Given the description of an element on the screen output the (x, y) to click on. 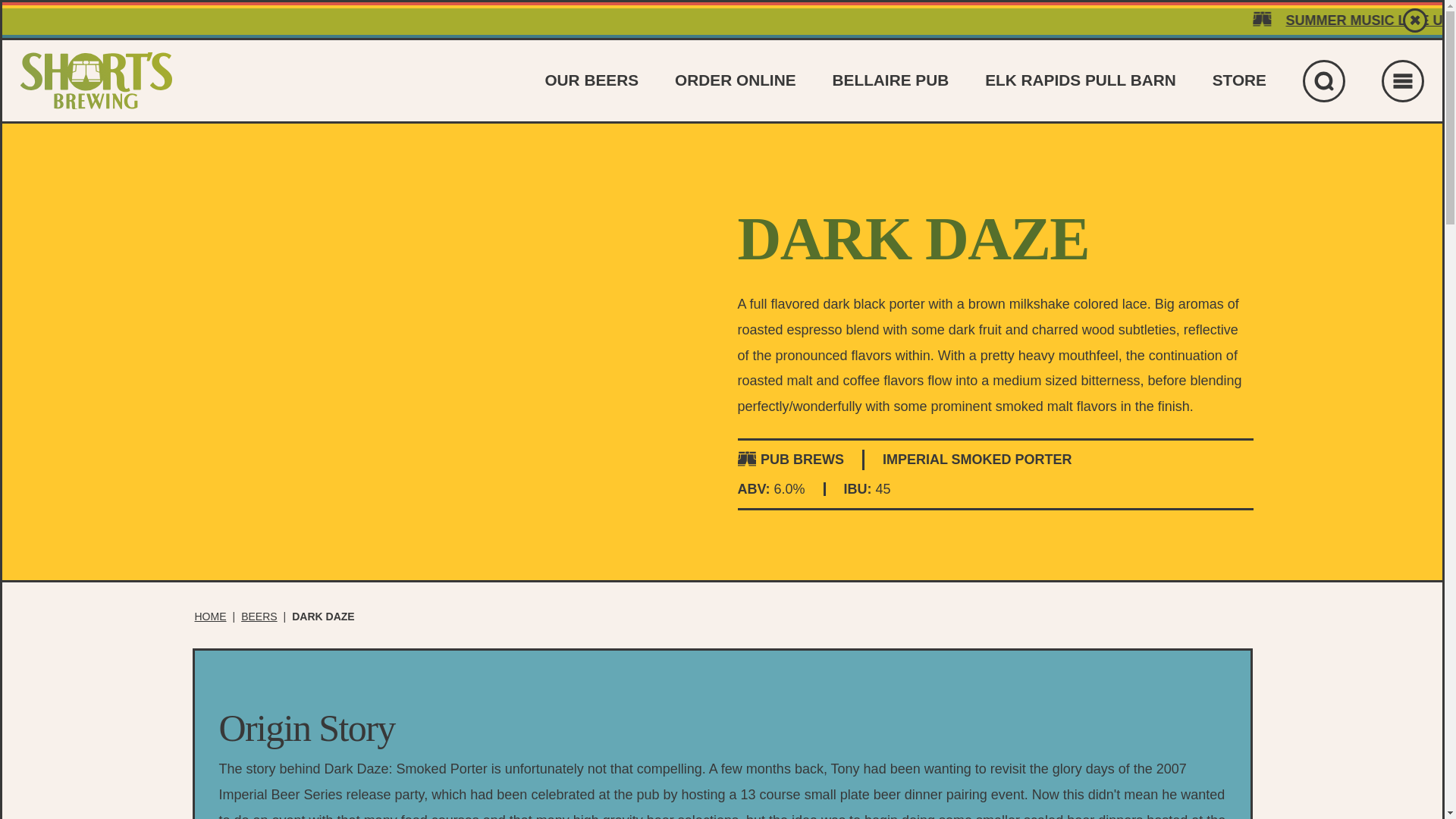
Short's Brewing Company (95, 80)
BELLAIRE PUB (890, 79)
ORDER ONLINE (734, 79)
SKIP TO MAIN CONTENT (721, 30)
STORE (1239, 79)
ELK RAPIDS PULL BARN (1080, 79)
OUR BEERS (591, 79)
